Given the description of an element on the screen output the (x, y) to click on. 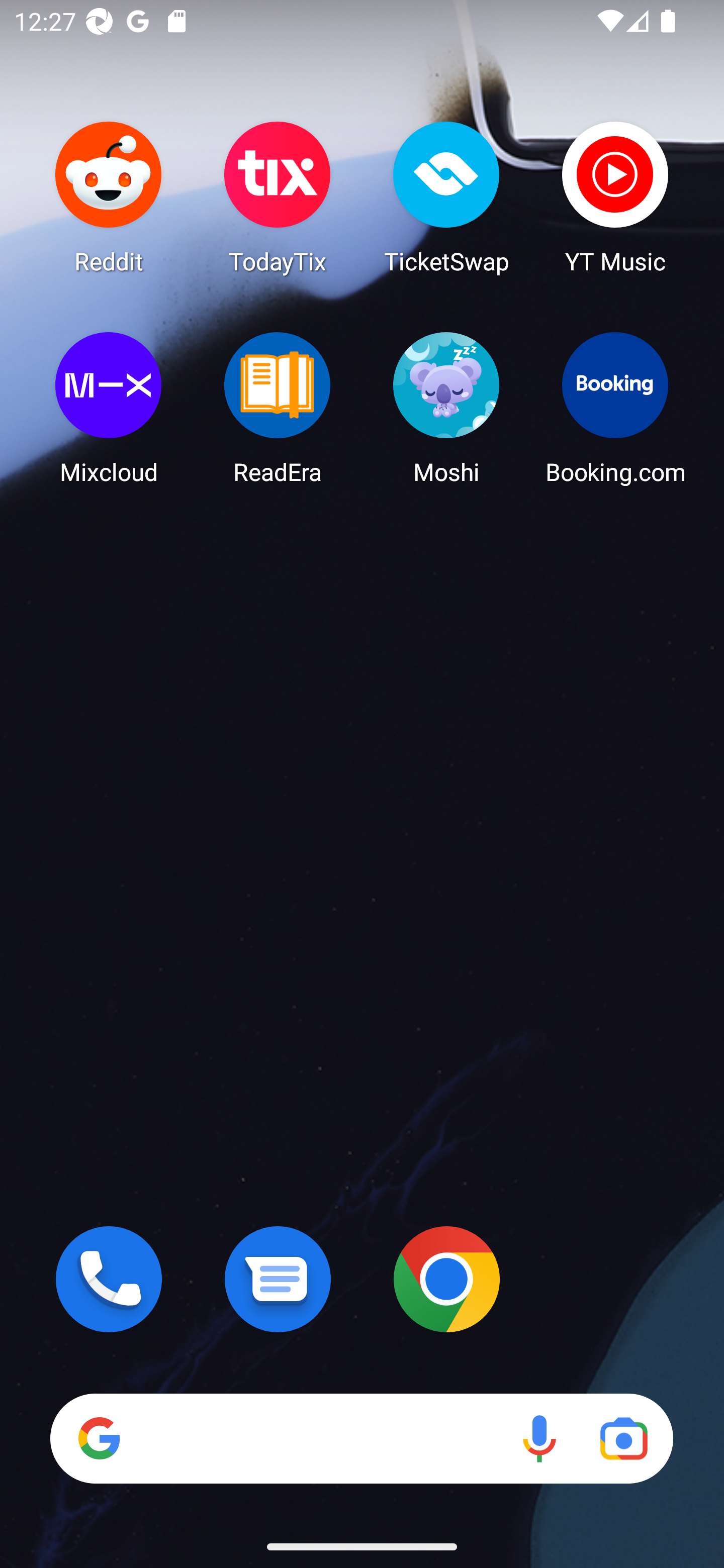
Reddit (108, 196)
TodayTix (277, 196)
TicketSwap (445, 196)
YT Music (615, 196)
Mixcloud (108, 407)
ReadEra (277, 407)
Moshi (445, 407)
Booking.com (615, 407)
Phone (108, 1279)
Messages (277, 1279)
Chrome (446, 1279)
Search Voice search Google Lens (361, 1438)
Voice search (539, 1438)
Google Lens (623, 1438)
